Given the description of an element on the screen output the (x, y) to click on. 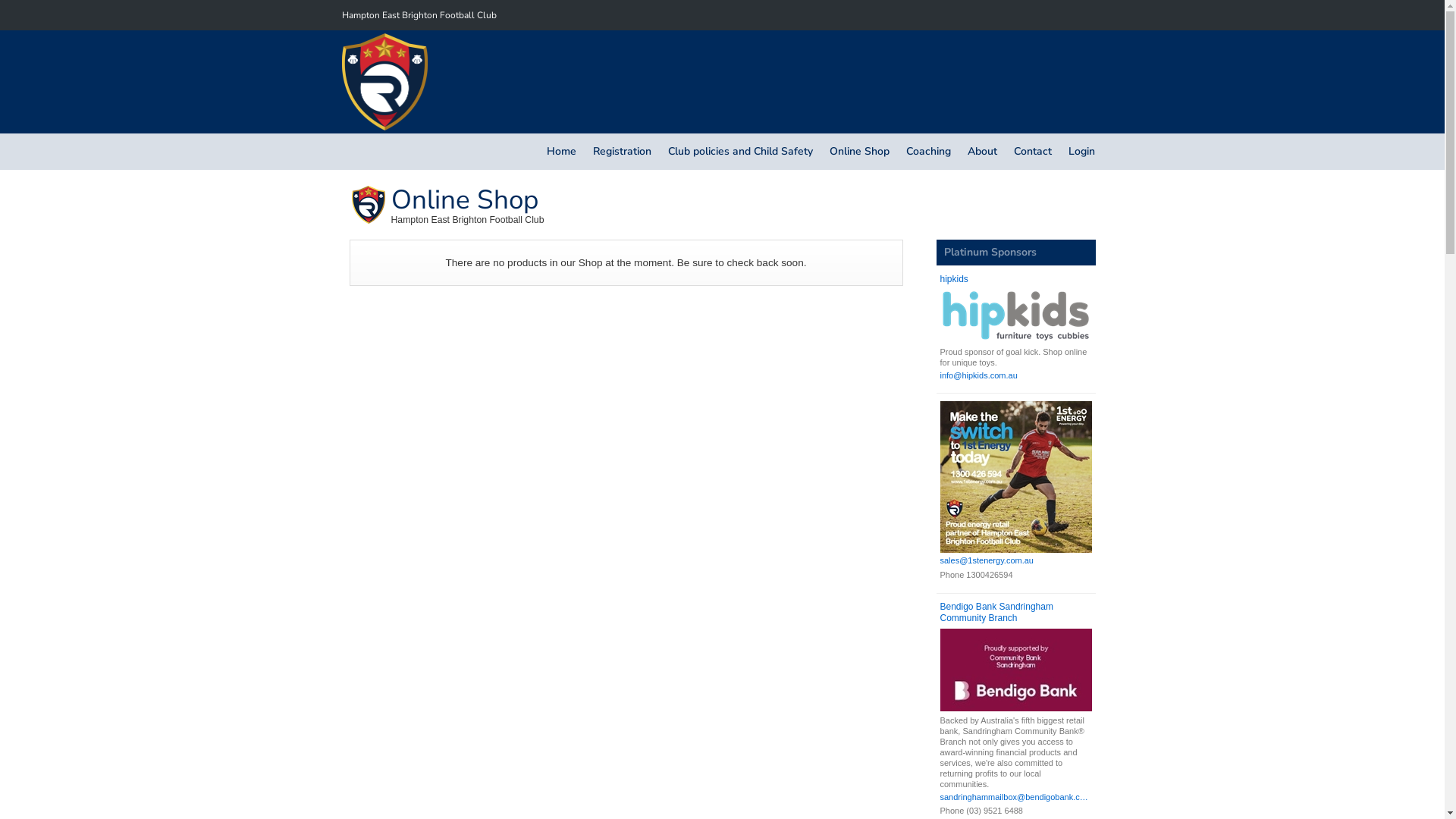
Club policies and Child Safety Element type: text (740, 151)
sales@1stenergy.com.au Element type: text (1016, 561)
Proud sponsor of goal kick. Shop online for unique toys. Element type: text (1016, 328)
hipkids Element type: text (1016, 279)
sandringhammailbox@bendigobank.com.au Element type: text (1016, 797)
Home Element type: text (561, 151)
Hampton East Brighton Football Club Element type: text (418, 15)
Contact Element type: text (1032, 151)
Bendigo Bank Sandringham Community Branch Element type: text (1016, 612)
About Element type: text (981, 151)
Registration Element type: text (620, 151)
Login Element type: text (1081, 151)
info@hipkids.com.au Element type: text (1016, 376)
Coaching Element type: text (928, 151)
Online Shop Element type: text (858, 151)
